Given the description of an element on the screen output the (x, y) to click on. 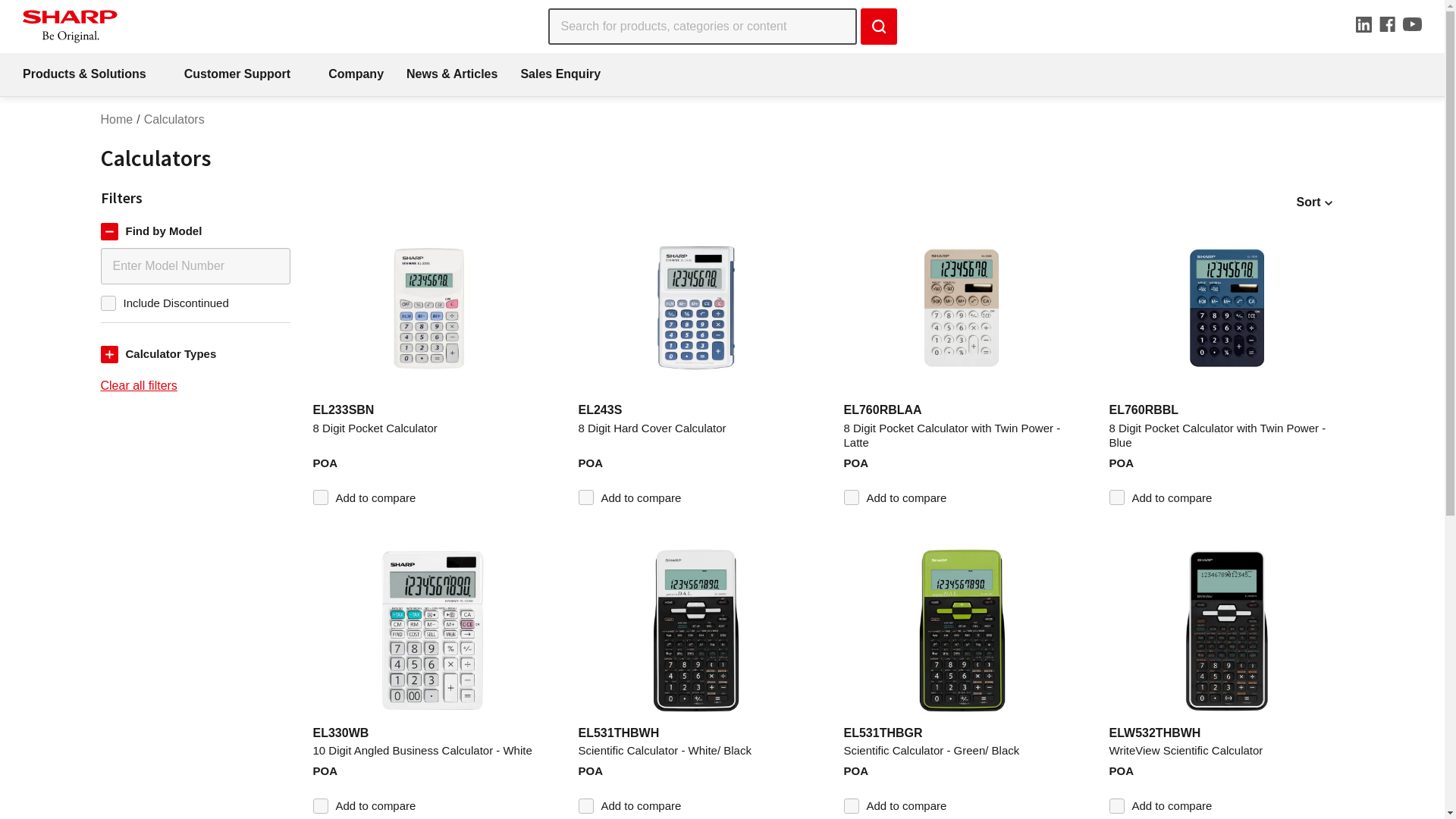
Customer Support Element type: text (244, 74)
true Element type: text (107, 302)
10 Digit Angled Business Calculator - White Element type: text (429, 750)
8 Digit Pocket Calculator Element type: text (429, 435)
Calculators Element type: text (174, 120)
Company Element type: text (355, 74)
WriteView Scientific Calculator Element type: text (1225, 750)
8 Digit Pocket Calculator with Twin Power - Blue Element type: text (1225, 435)
Clear all filters Element type: text (194, 386)
News & Articles Element type: text (451, 74)
Find by Model Element type: text (194, 231)
Products & Solutions Element type: text (91, 74)
Scientific Calculator - White/ Black Element type: text (694, 750)
8 Digit Hard Cover Calculator Element type: text (694, 435)
Sort Element type: text (1314, 202)
Calculator Types Element type: text (194, 354)
Sales Enquiry Element type: text (559, 74)
8 Digit Pocket Calculator with Twin Power - Latte Element type: text (960, 435)
Home Element type: text (116, 120)
Scientific Calculator - Green/ Black Element type: text (960, 750)
